Given the description of an element on the screen output the (x, y) to click on. 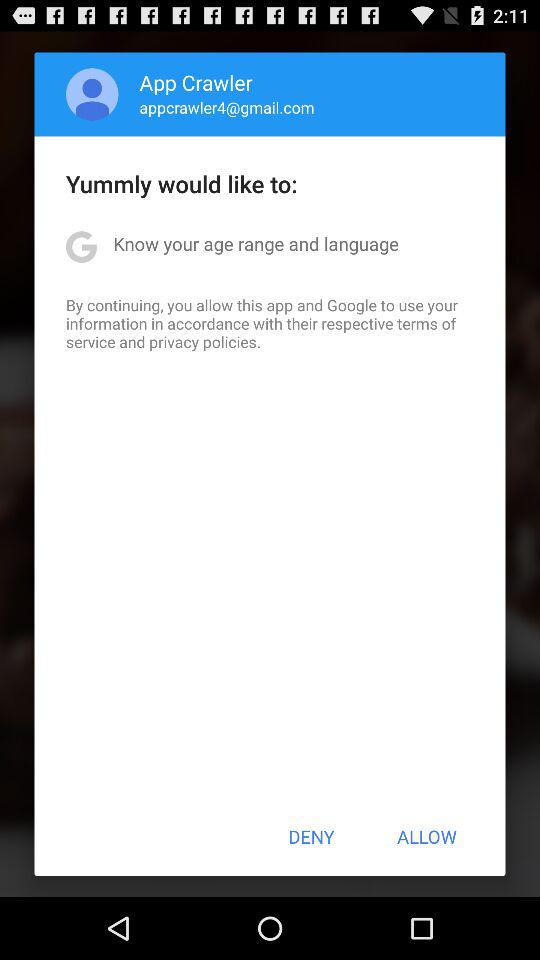
swipe to the app crawler (195, 82)
